Given the description of an element on the screen output the (x, y) to click on. 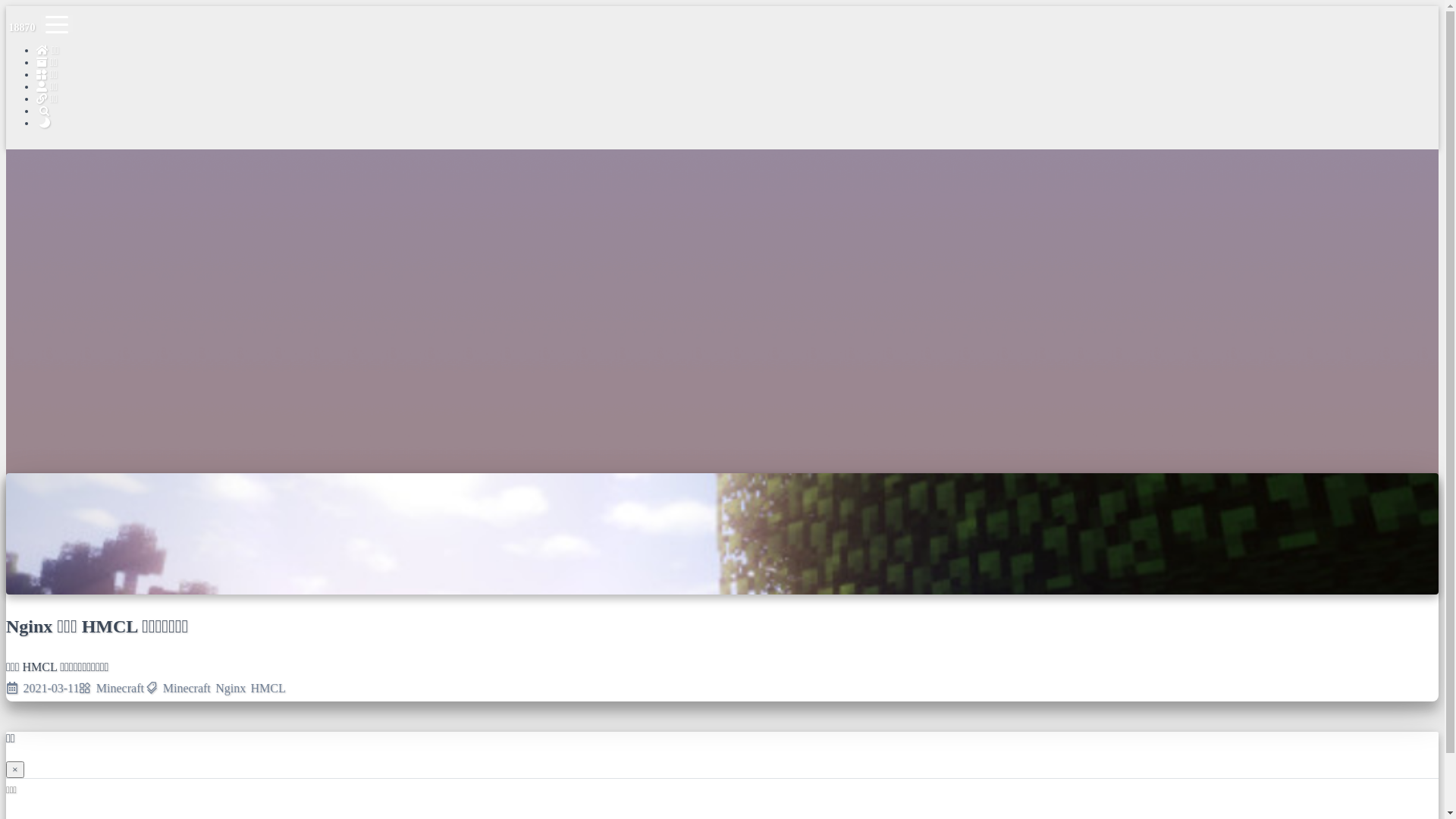
Minecraft Element type: text (120, 687)
 18870  Element type: text (21, 27)
   Element type: text (737, 123)
Minecraft Element type: text (186, 687)
HMCL Element type: text (268, 687)
   Element type: text (737, 111)
Nginx Element type: text (230, 687)
